Given the description of an element on the screen output the (x, y) to click on. 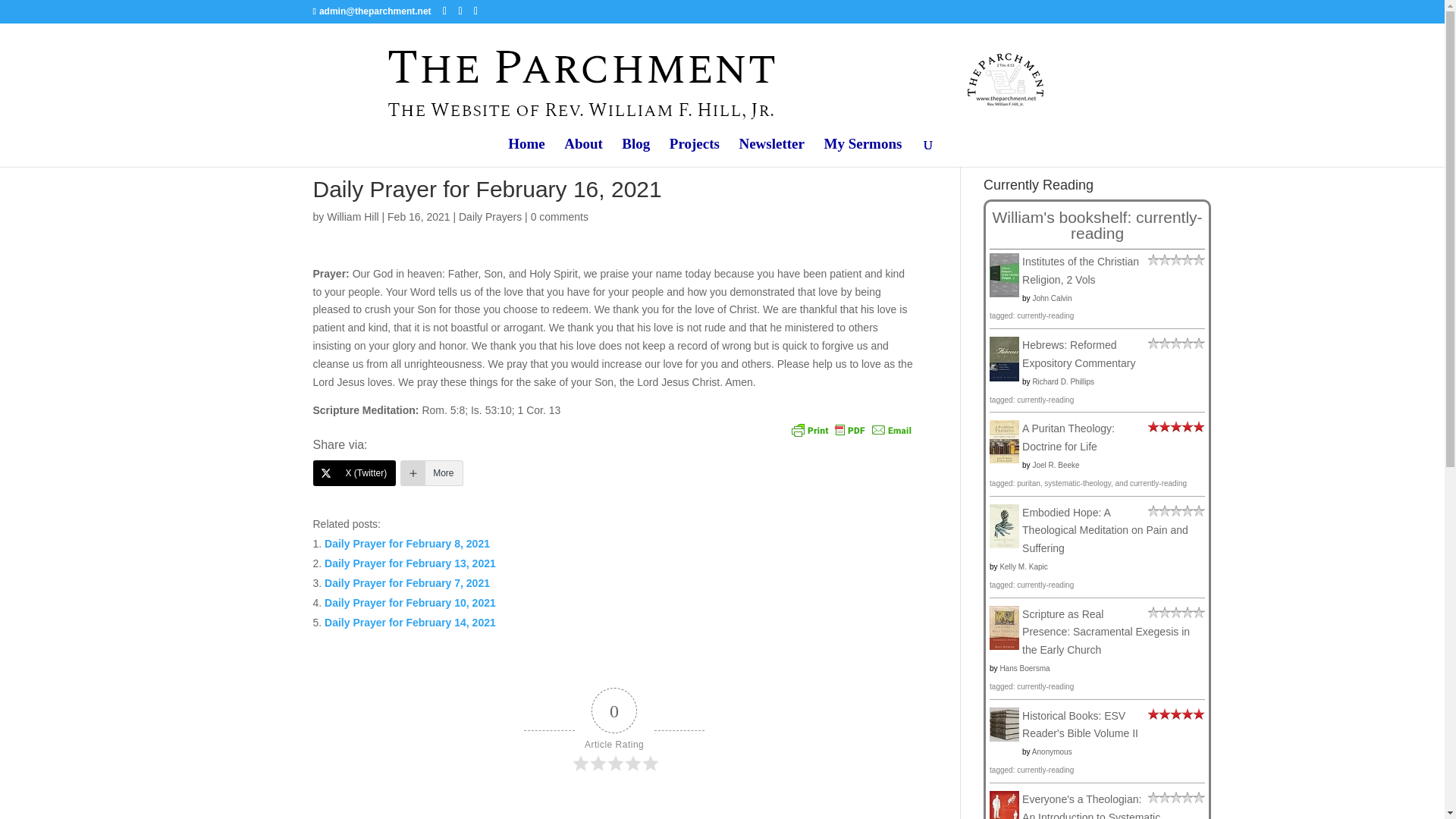
0 comments (559, 216)
Daily Prayer for February 10, 2021 (410, 603)
Home (526, 152)
My Sermons (862, 152)
Daily Prayer for February 13, 2021 (410, 563)
Blog (635, 152)
Newsletter (771, 152)
Daily Prayer for February 8, 2021 (406, 543)
About (583, 152)
Projects (694, 152)
